Given the description of an element on the screen output the (x, y) to click on. 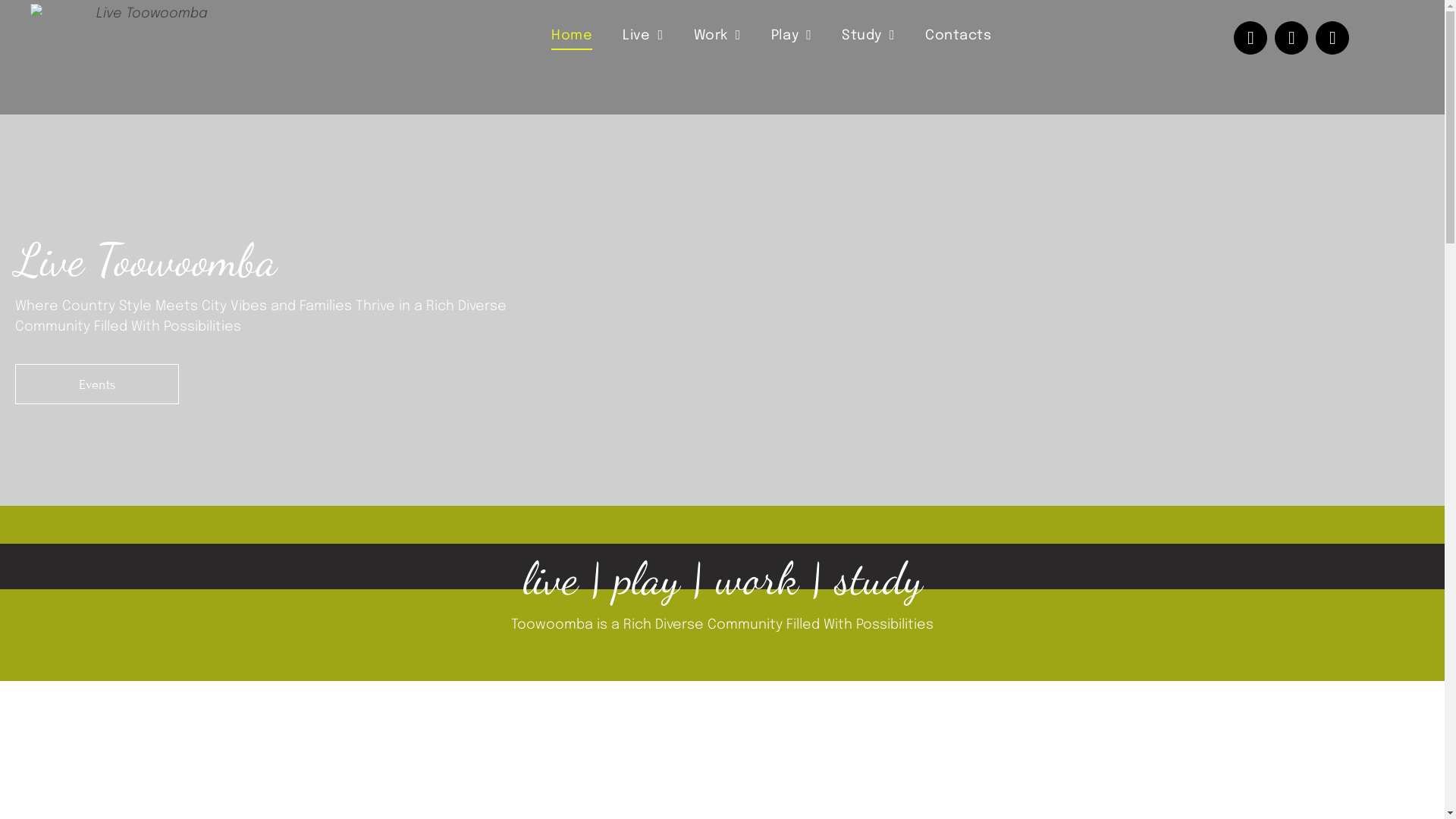
Play Element type: text (791, 35)
Study Element type: text (868, 35)
Events Element type: text (96, 384)
Work Element type: text (717, 35)
Home Element type: text (571, 35)
Live Element type: text (642, 35)
Contacts Element type: text (958, 35)
